Given the description of an element on the screen output the (x, y) to click on. 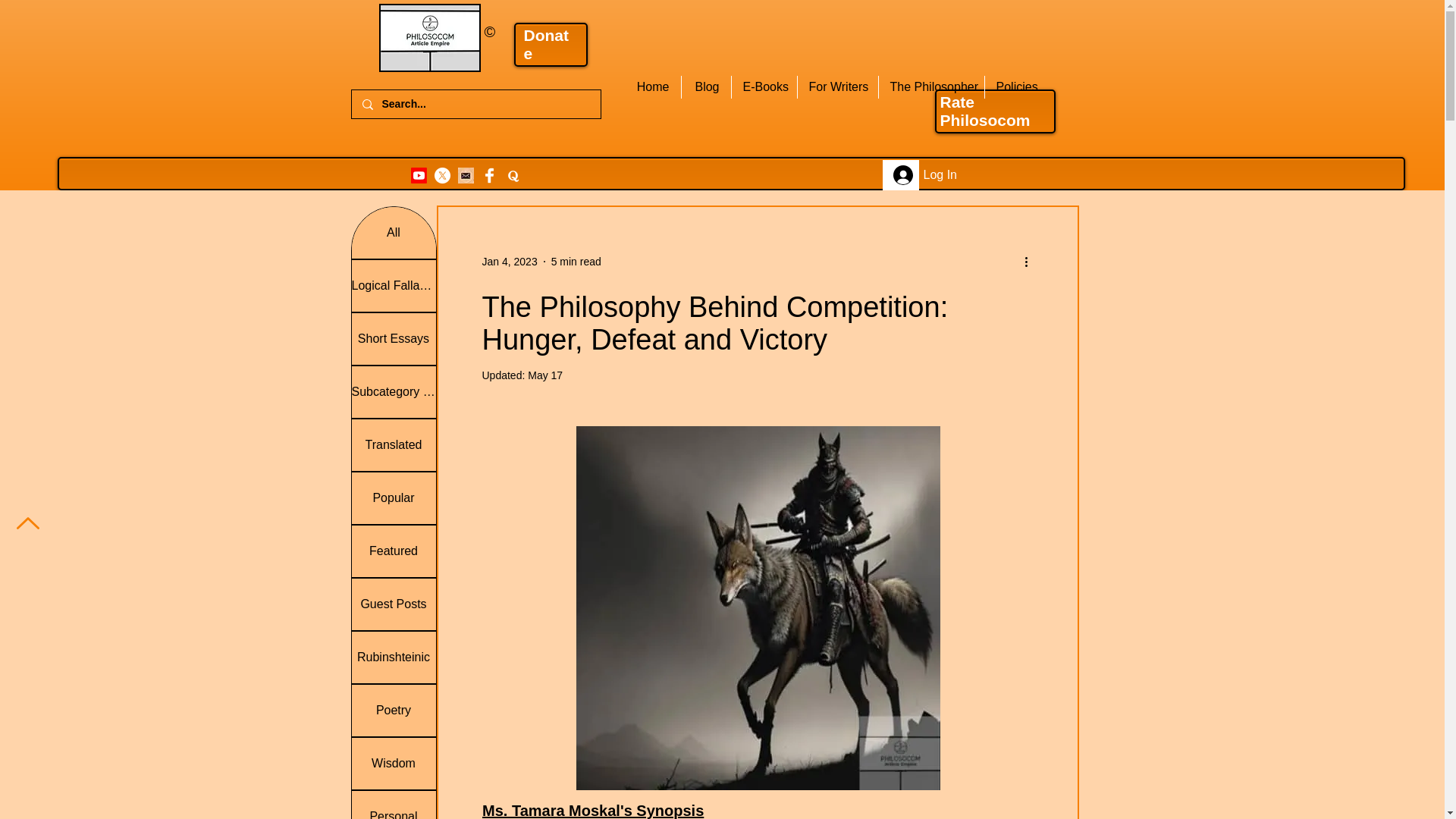
5 min read (576, 260)
Log In (900, 174)
Guest Posts (393, 603)
Rubinshteinic (393, 657)
Logical Fallacies (393, 286)
Popular (393, 498)
Short Essays (393, 338)
Donate (545, 44)
Translated (393, 444)
Subcategory Directories (393, 391)
Featured (393, 551)
Poetry (393, 710)
Jan 4, 2023 (509, 260)
Rate Philosocom (985, 110)
Wisdom (393, 763)
